Given the description of an element on the screen output the (x, y) to click on. 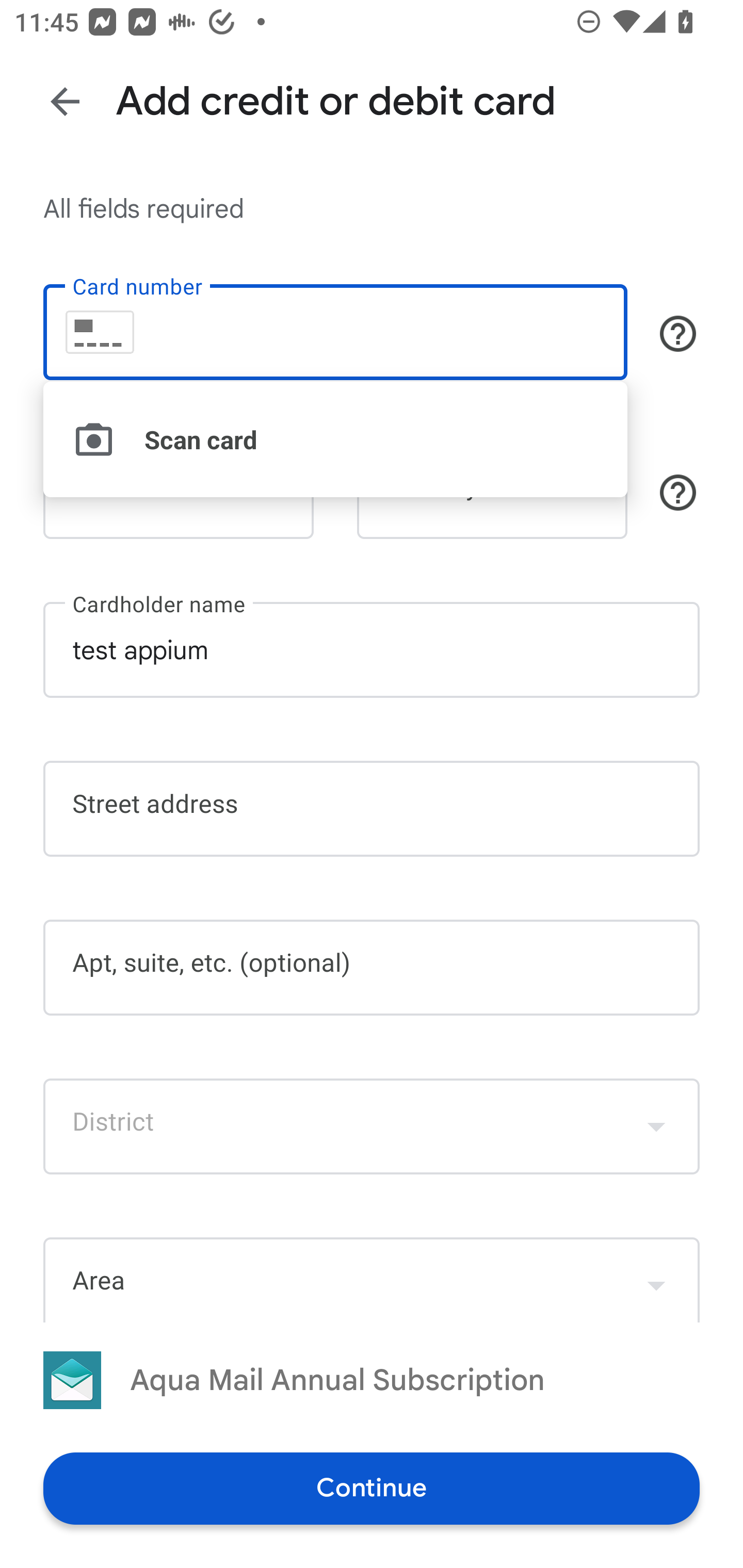
Back (64, 101)
Card number (335, 331)
Button, shows cards that are accepted for payment (677, 333)
Security code help (677, 492)
test appium (371, 649)
Street address (371, 808)
Apt, suite, etc. (optional) (371, 968)
District (371, 1126)
Show dropdown menu (655, 1126)
Area (371, 1279)
Show dropdown menu (655, 1281)
Continue (371, 1487)
